Given the description of an element on the screen output the (x, y) to click on. 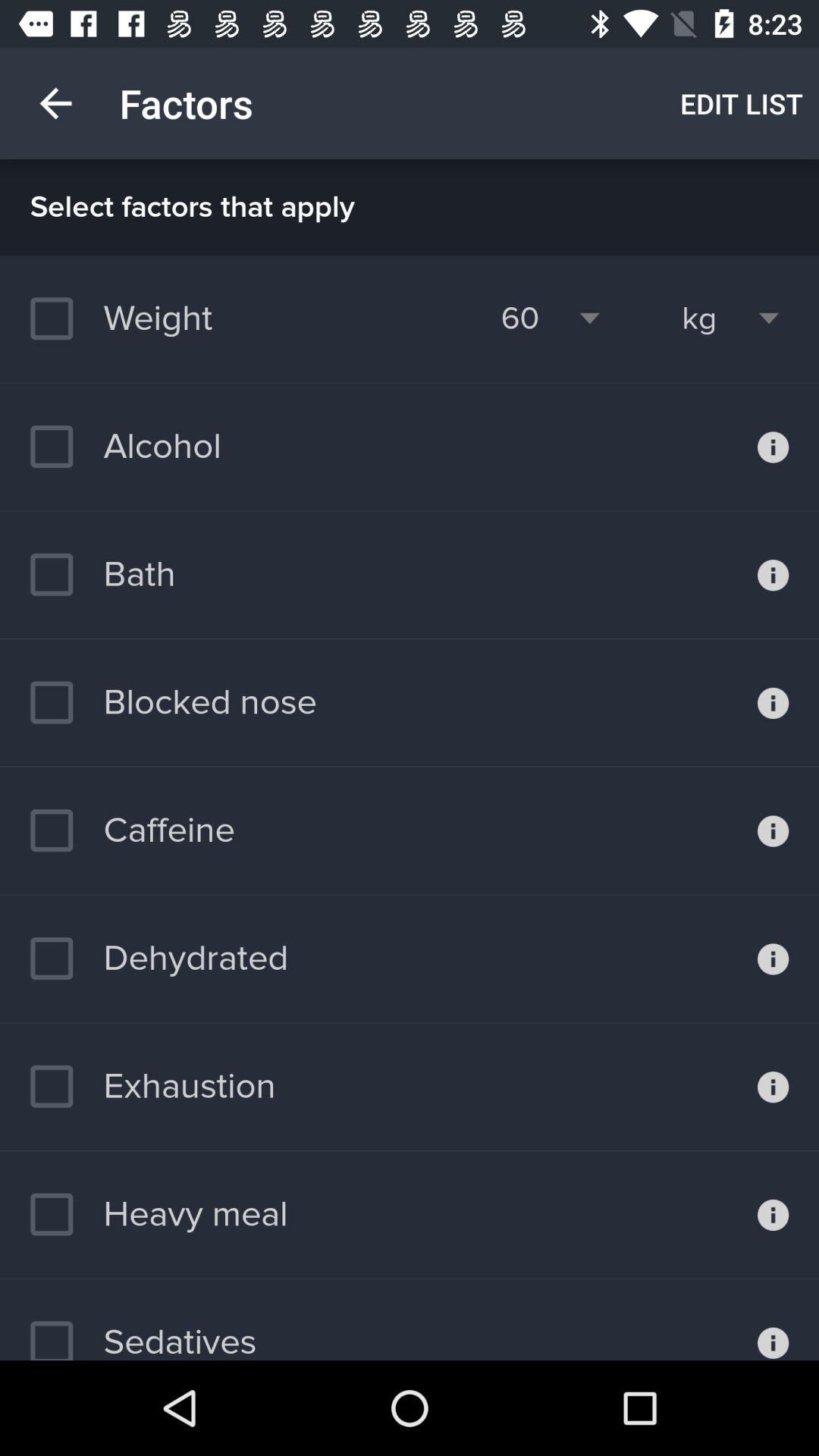
additional information (773, 958)
